Given the description of an element on the screen output the (x, y) to click on. 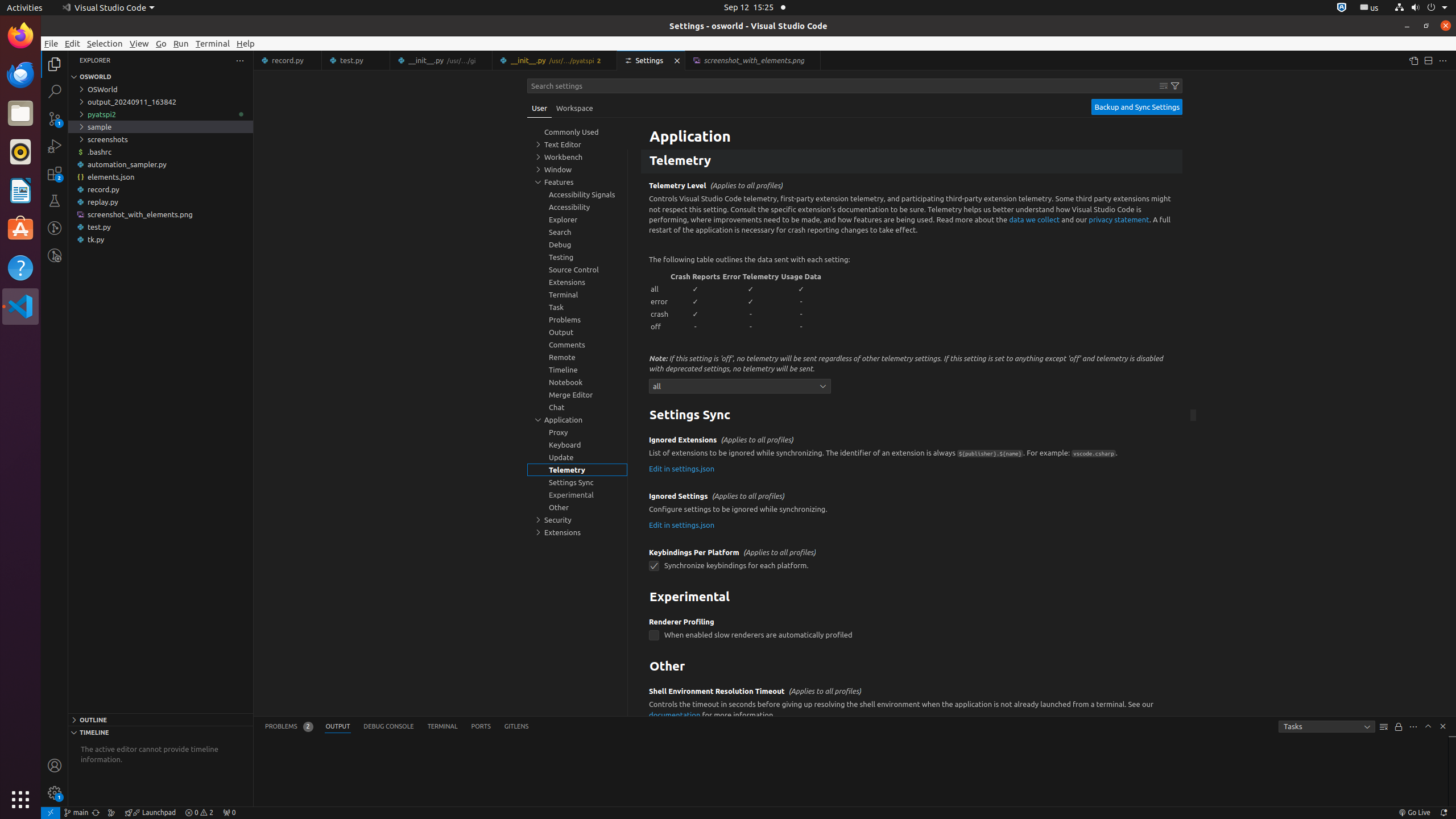
Notebook, group Element type: tree-item (577, 381)
Open Settings (JSON) Element type: push-button (1413, 60)
GitLens Inspect Element type: page-tab (54, 255)
OSWorld (Git) - main, Checkout Branch/Tag... Element type: push-button (75, 812)
